Given the description of an element on the screen output the (x, y) to click on. 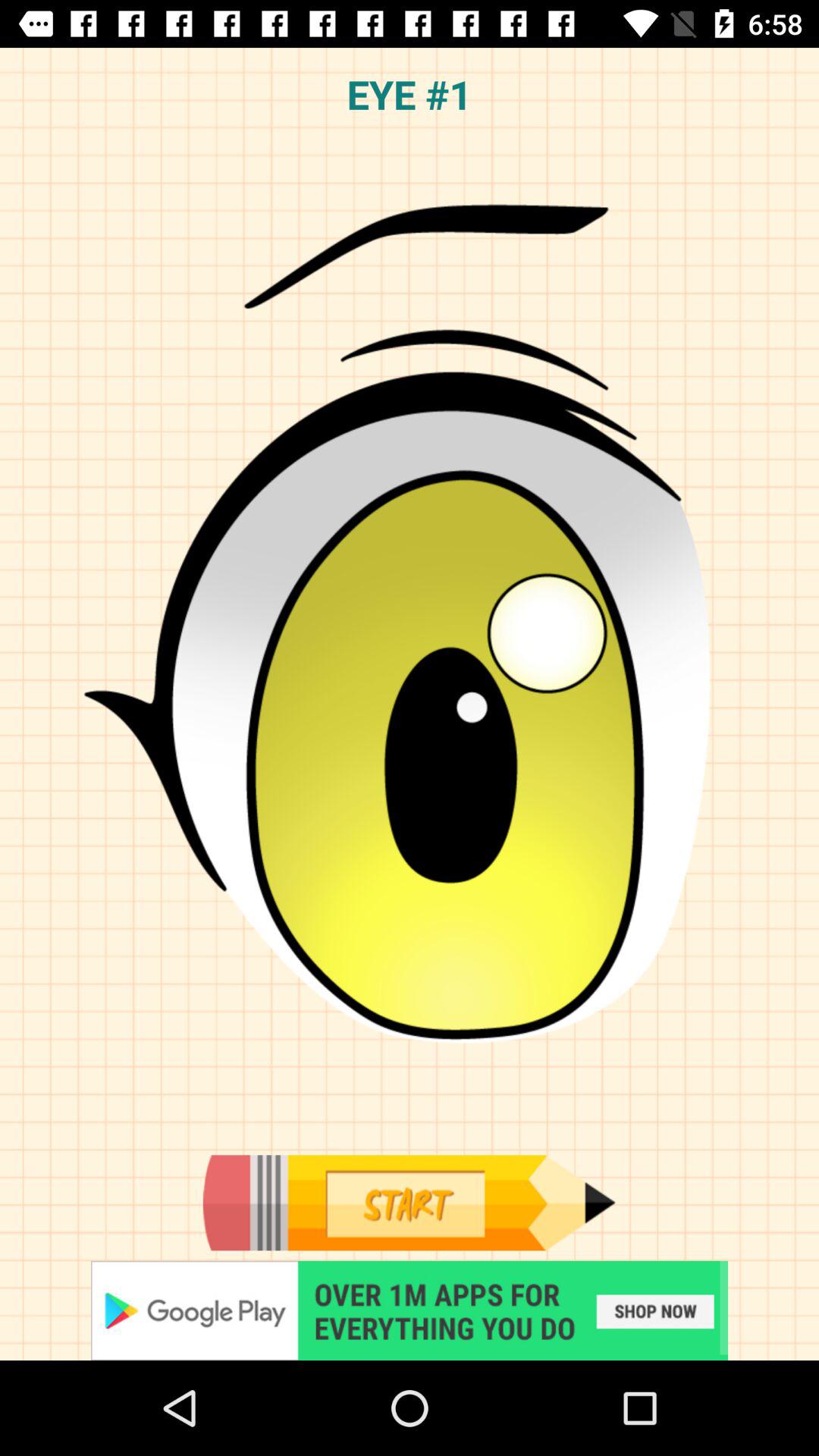
start drawing (409, 1202)
